Given the description of an element on the screen output the (x, y) to click on. 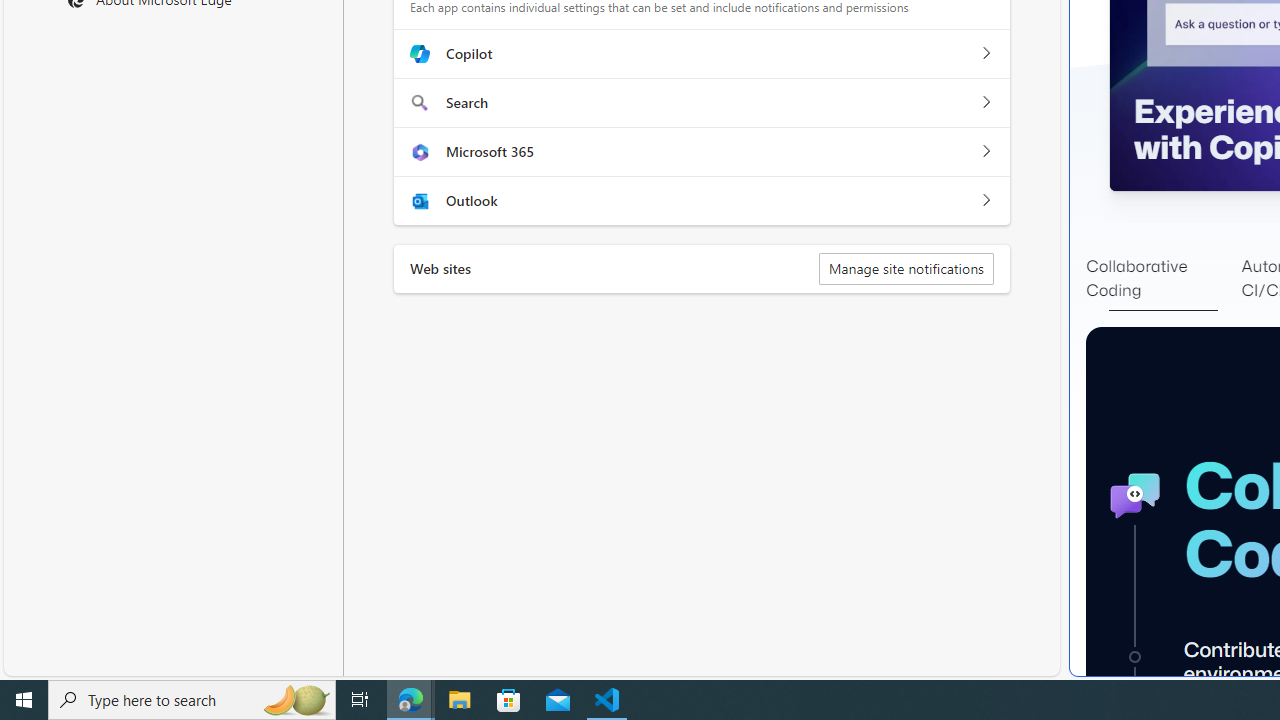
Manage site notifications (905, 268)
Copilot (985, 54)
GitHub Collaboration Icon (1134, 496)
Collaborative Coding (1163, 278)
